Given the description of an element on the screen output the (x, y) to click on. 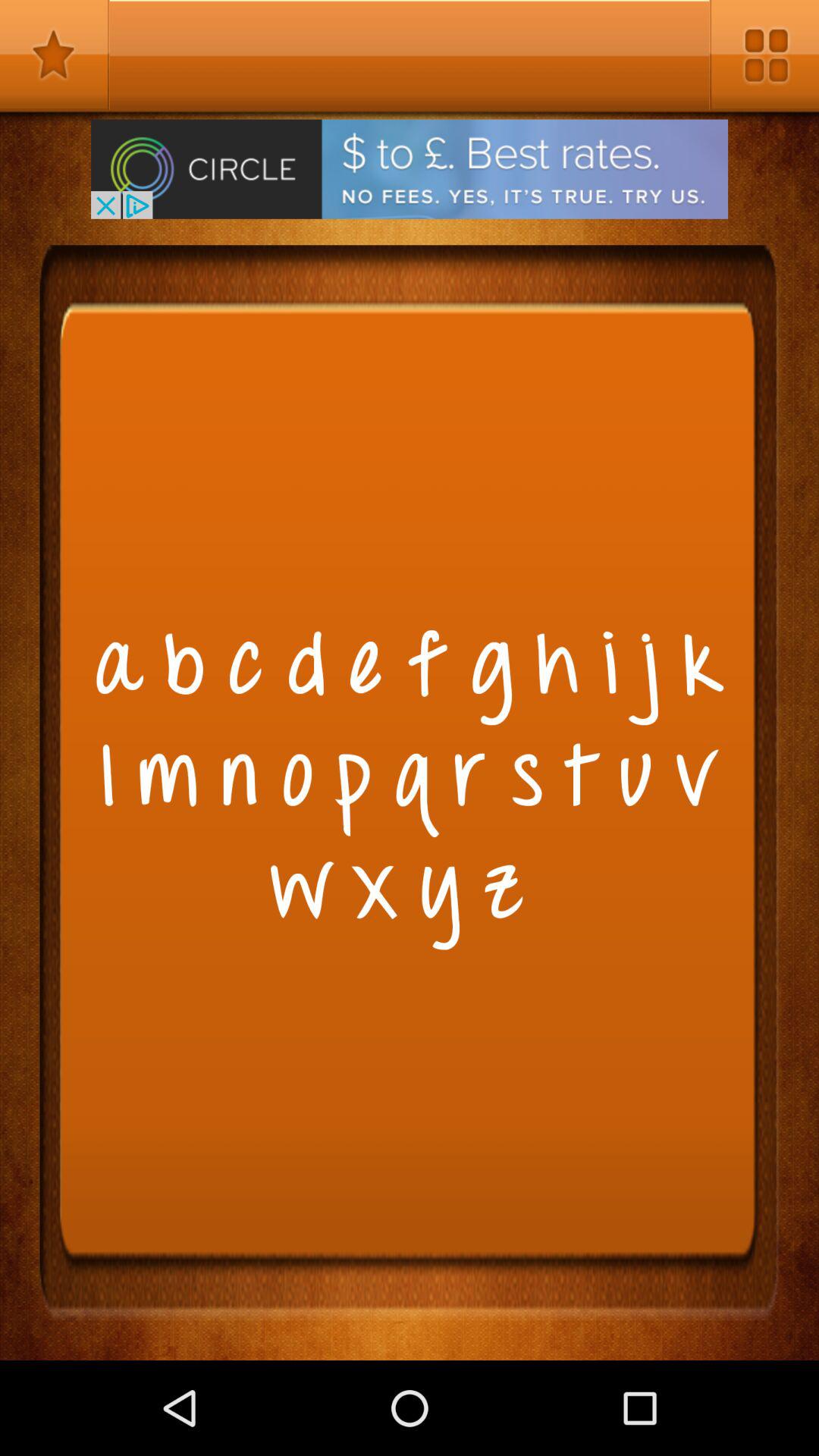
announcement (409, 168)
